Given the description of an element on the screen output the (x, y) to click on. 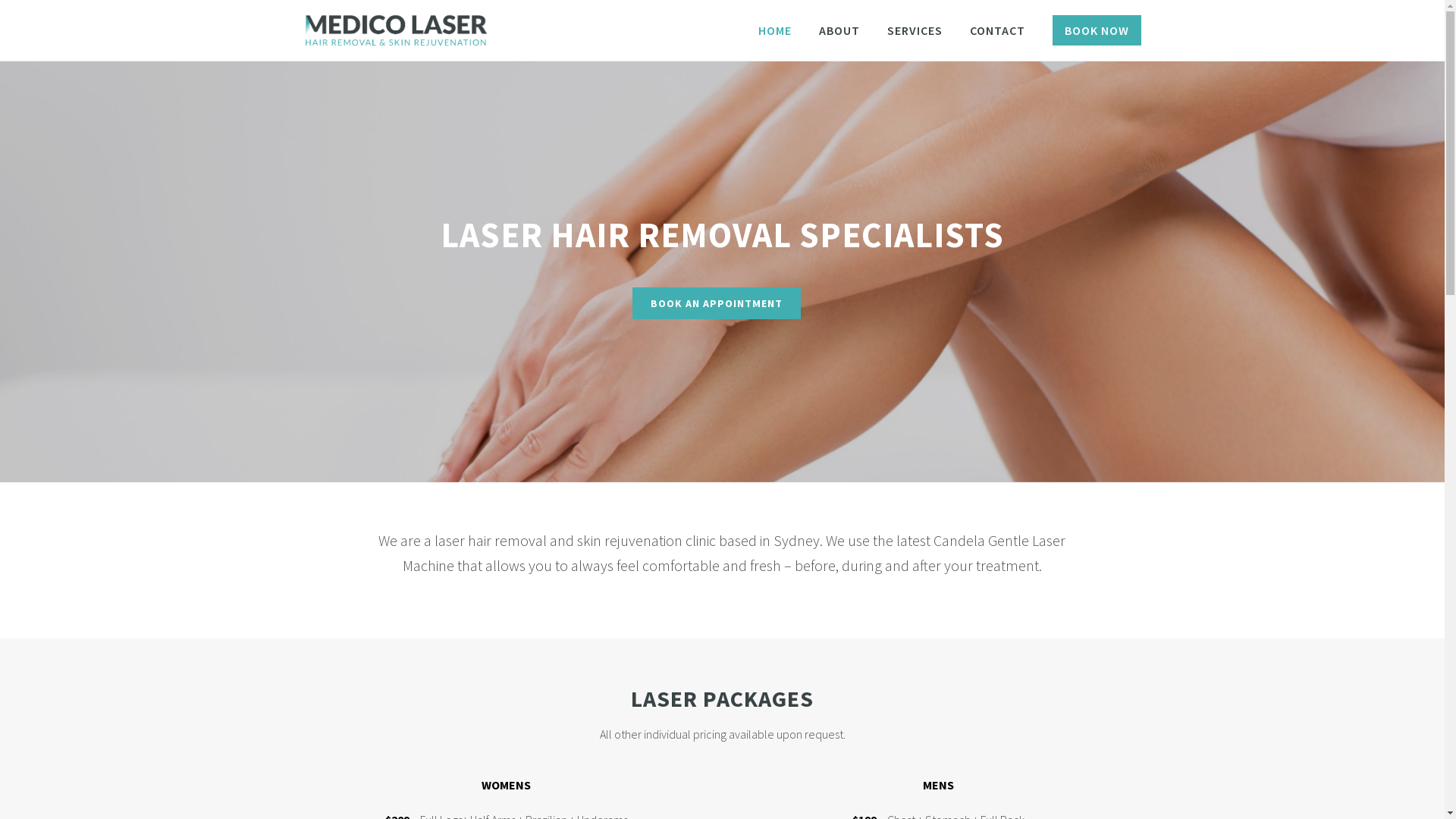
BOOK AN APPOINTMENT Element type: text (716, 303)
ABOUT Element type: text (839, 30)
CONTACT Element type: text (996, 30)
HOME Element type: text (774, 30)
SERVICES Element type: text (914, 30)
BOOK NOW Element type: text (1096, 30)
